Given the description of an element on the screen output the (x, y) to click on. 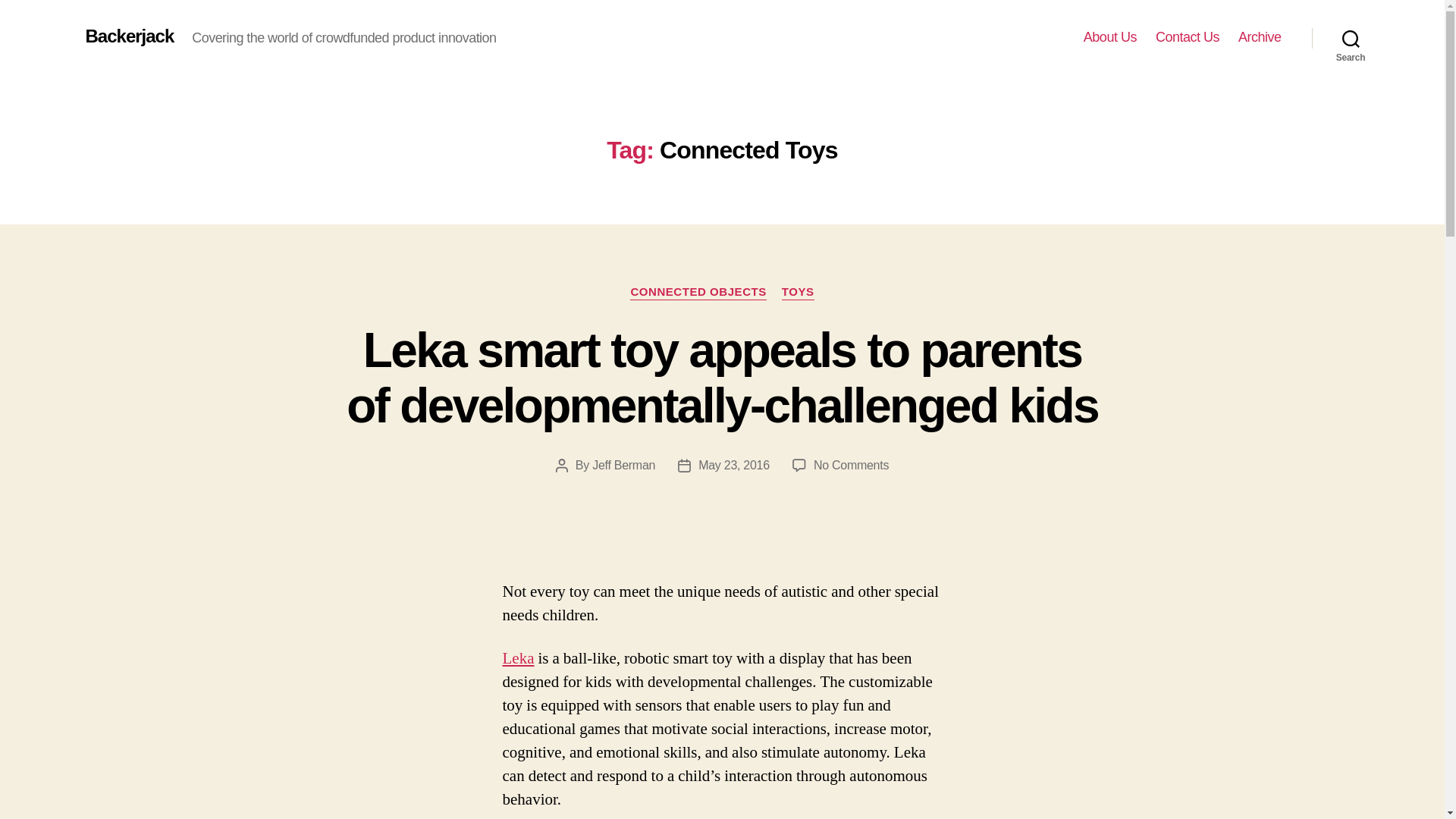
About Us (1110, 37)
Search (1350, 37)
Archive (1260, 37)
Backerjack (128, 36)
Leka (518, 658)
May 23, 2016 (734, 464)
Contact Us (1188, 37)
TOYS (797, 292)
